Given the description of an element on the screen output the (x, y) to click on. 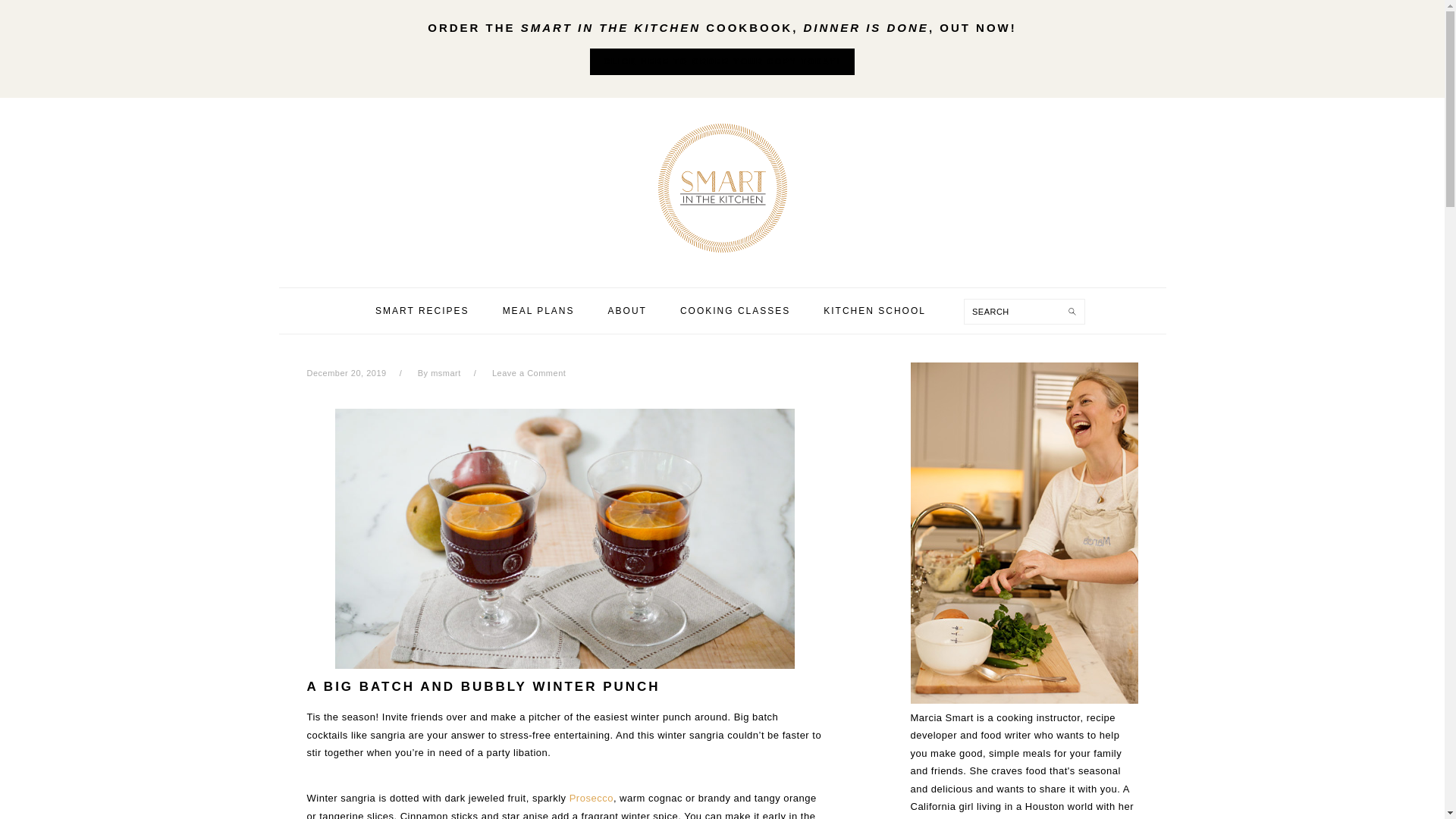
CLICK HERE TO ORDER YOUR COPY TODAY! (721, 60)
CLICK HERE TO ORDER YOUR COPY TODAY! (721, 62)
SMART RECIPES (421, 310)
COOKING CLASSES (734, 310)
SMART IN THE KITCHEN (721, 187)
Prosecco (590, 797)
